Given the description of an element on the screen output the (x, y) to click on. 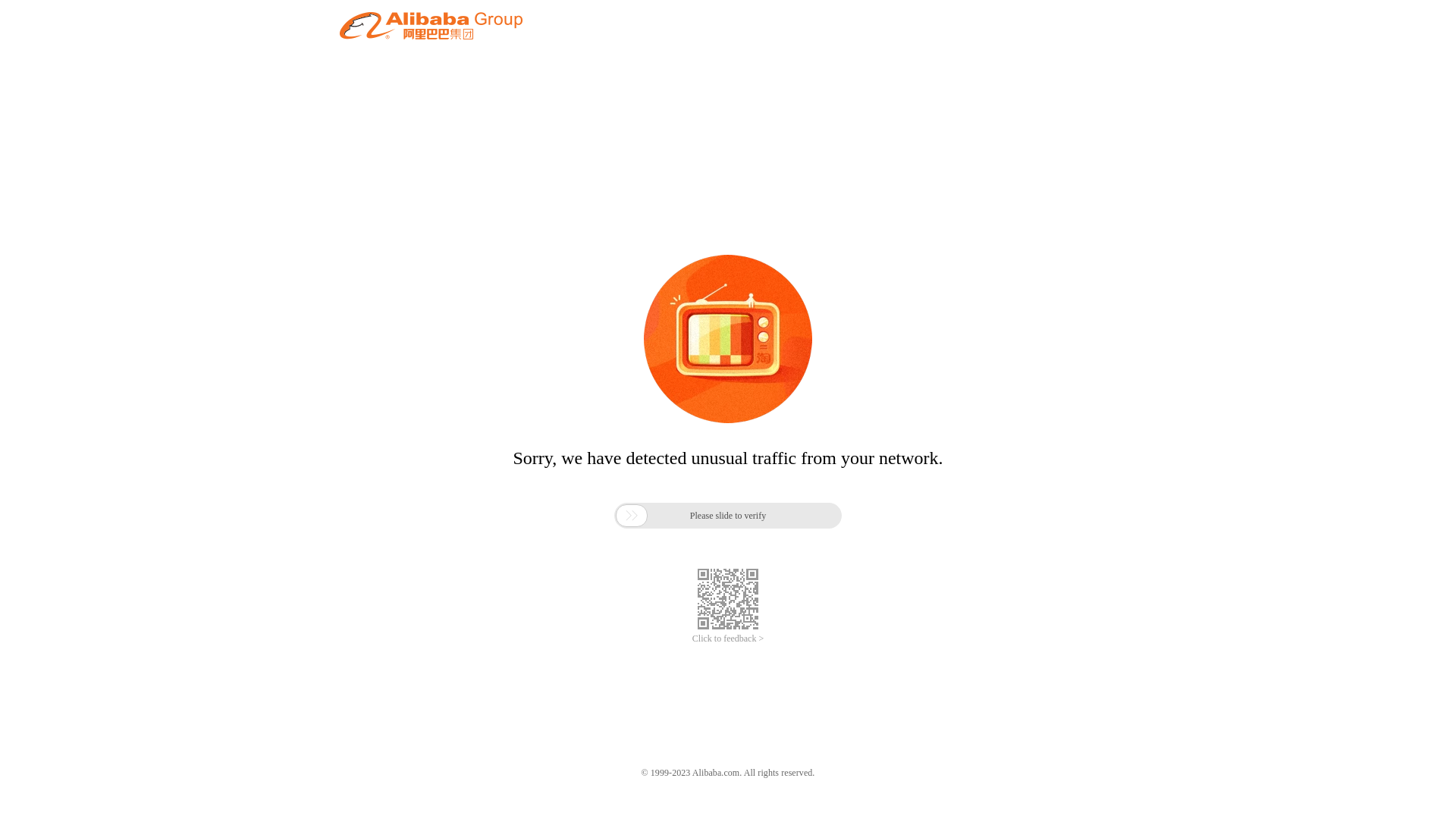
Click to feedback > Element type: text (727, 638)
